Given the description of an element on the screen output the (x, y) to click on. 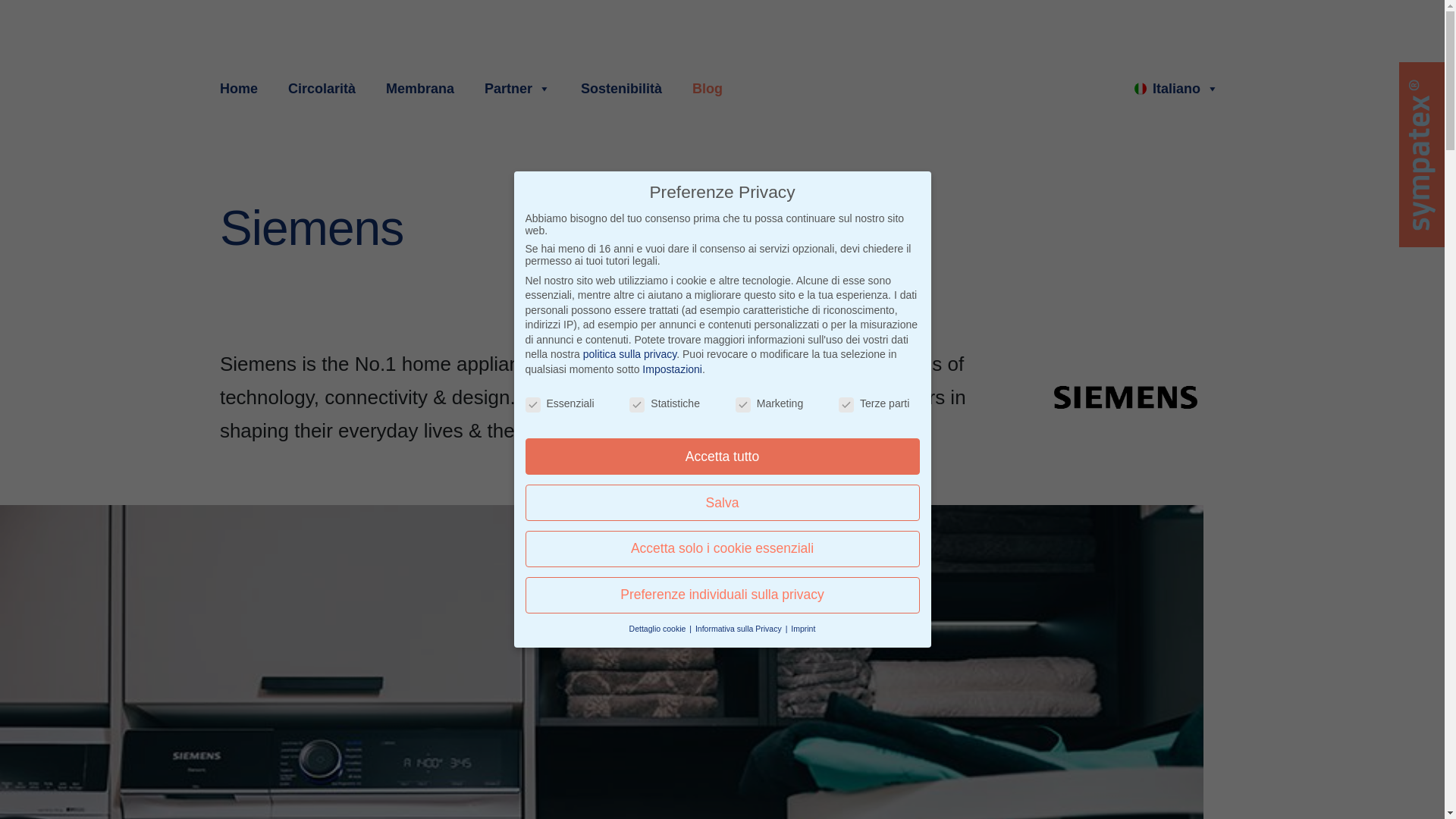
Membrana (420, 88)
Blog (707, 88)
Home (241, 88)
Italiano (1176, 88)
Partner (517, 88)
Italiano (1176, 88)
